Given the description of an element on the screen output the (x, y) to click on. 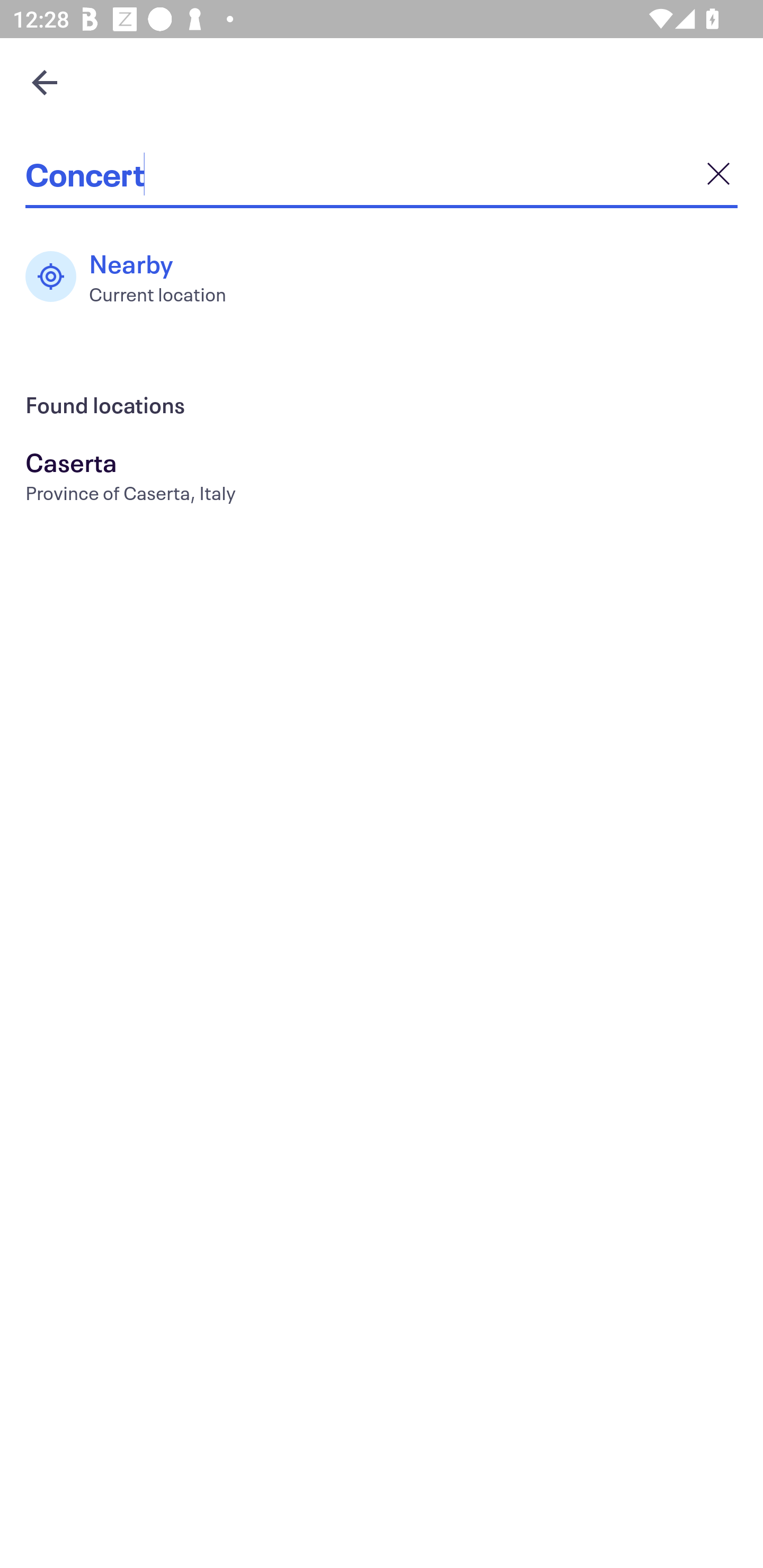
Navigate up (44, 82)
Concert (381, 173)
Nearby Current location (135, 276)
Caserta Province of Caserta, Italy (381, 479)
